Given the description of an element on the screen output the (x, y) to click on. 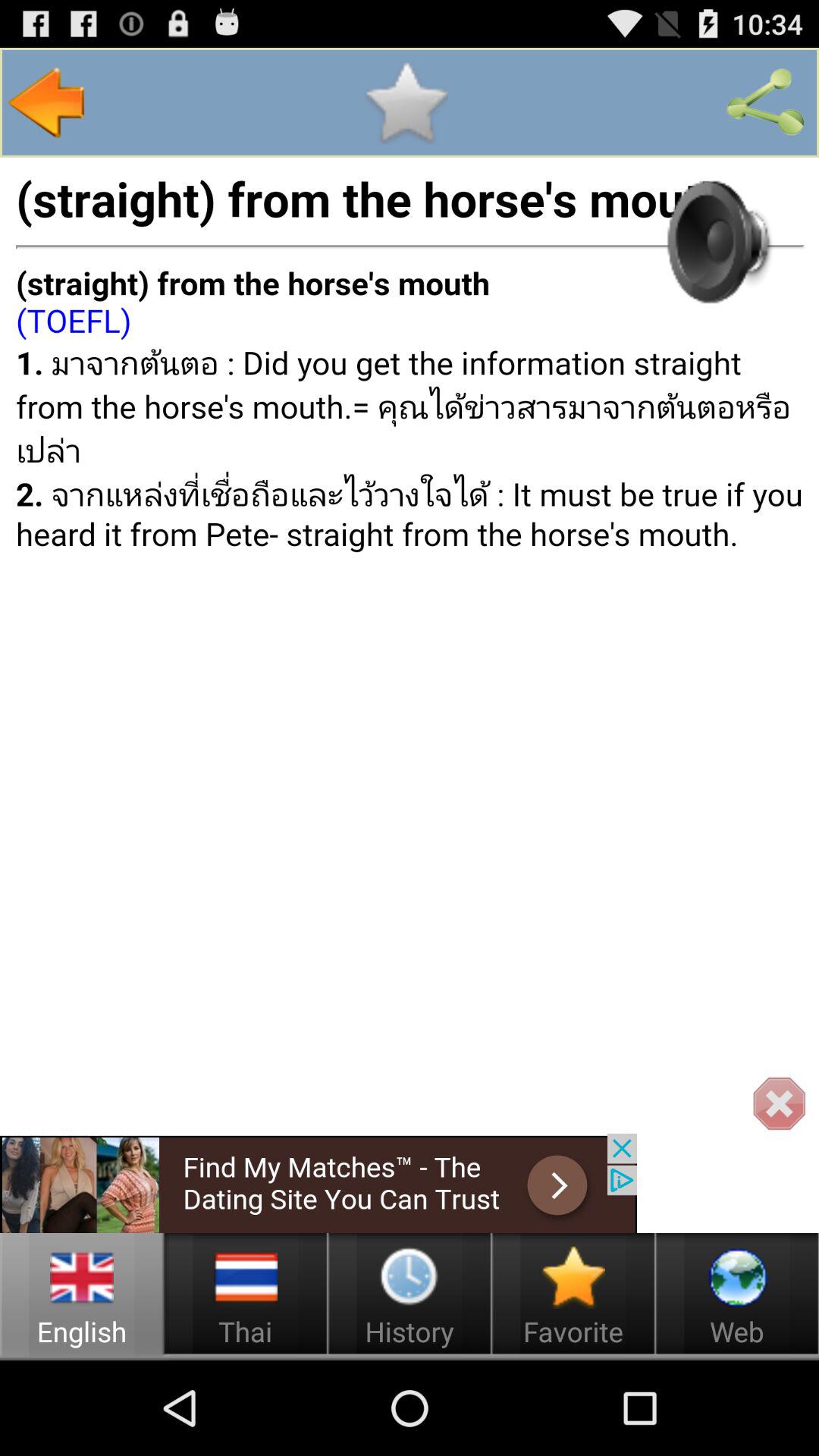
share with outside programs or people (765, 102)
